Given the description of an element on the screen output the (x, y) to click on. 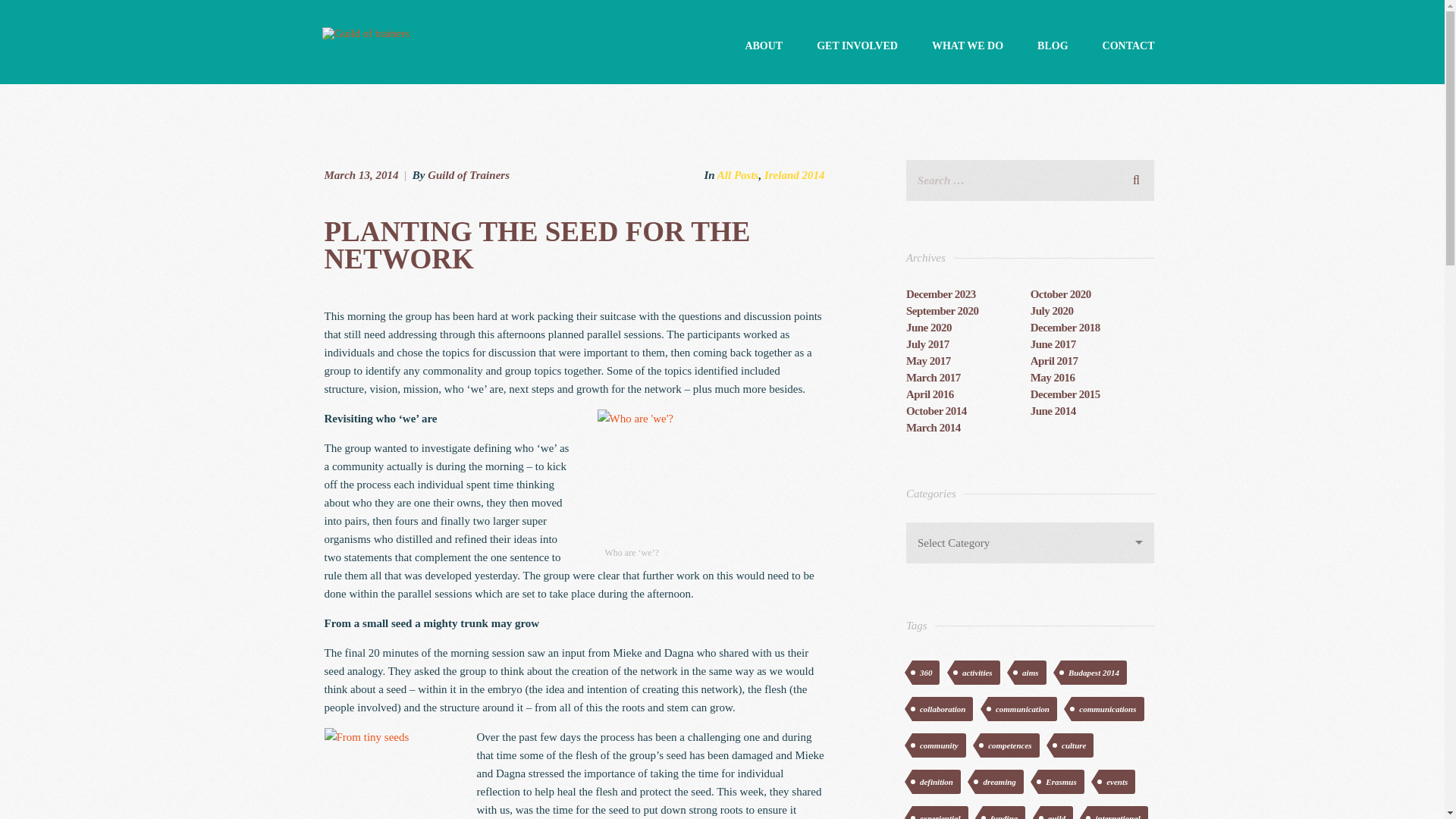
ABOUT (763, 46)
March 13, 2014 (362, 174)
GET INVOLVED (857, 46)
Search (1136, 177)
WHAT WE DO (967, 46)
Search (1136, 177)
Guild of Trainers (468, 174)
All Posts (737, 174)
Ireland 2014 (794, 174)
BLOG (1051, 46)
